Given the description of an element on the screen output the (x, y) to click on. 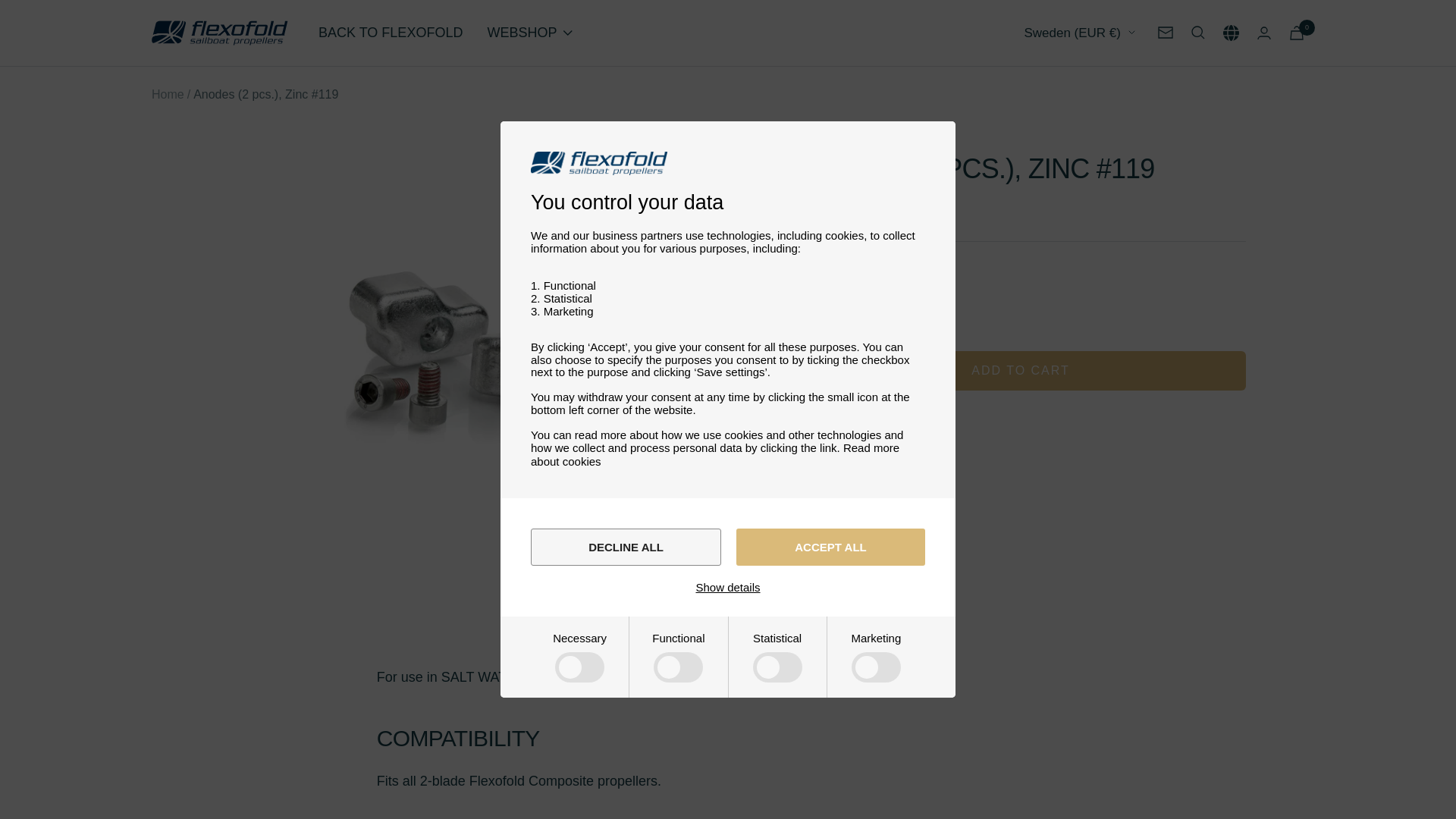
1 (851, 308)
DECLINE ALL (625, 546)
Read more about cookies (715, 454)
ACCEPT ALL (830, 546)
Show details (727, 586)
